Given the description of an element on the screen output the (x, y) to click on. 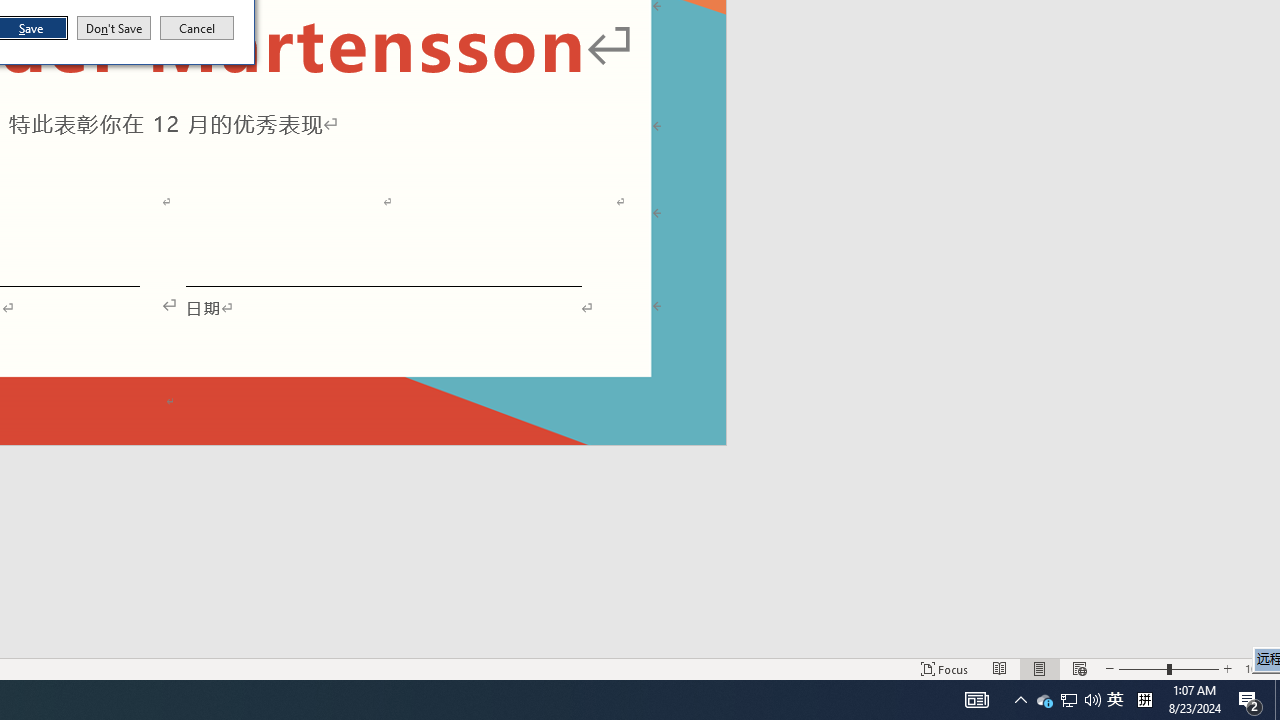
Q2790: 100% (1092, 699)
Notification Chevron (1020, 699)
Zoom 100% (1258, 668)
Cancel (197, 27)
User Promoted Notification Area (1115, 699)
Show desktop (1068, 699)
Tray Input Indicator - Chinese (Simplified, China) (1069, 699)
